Given the description of an element on the screen output the (x, y) to click on. 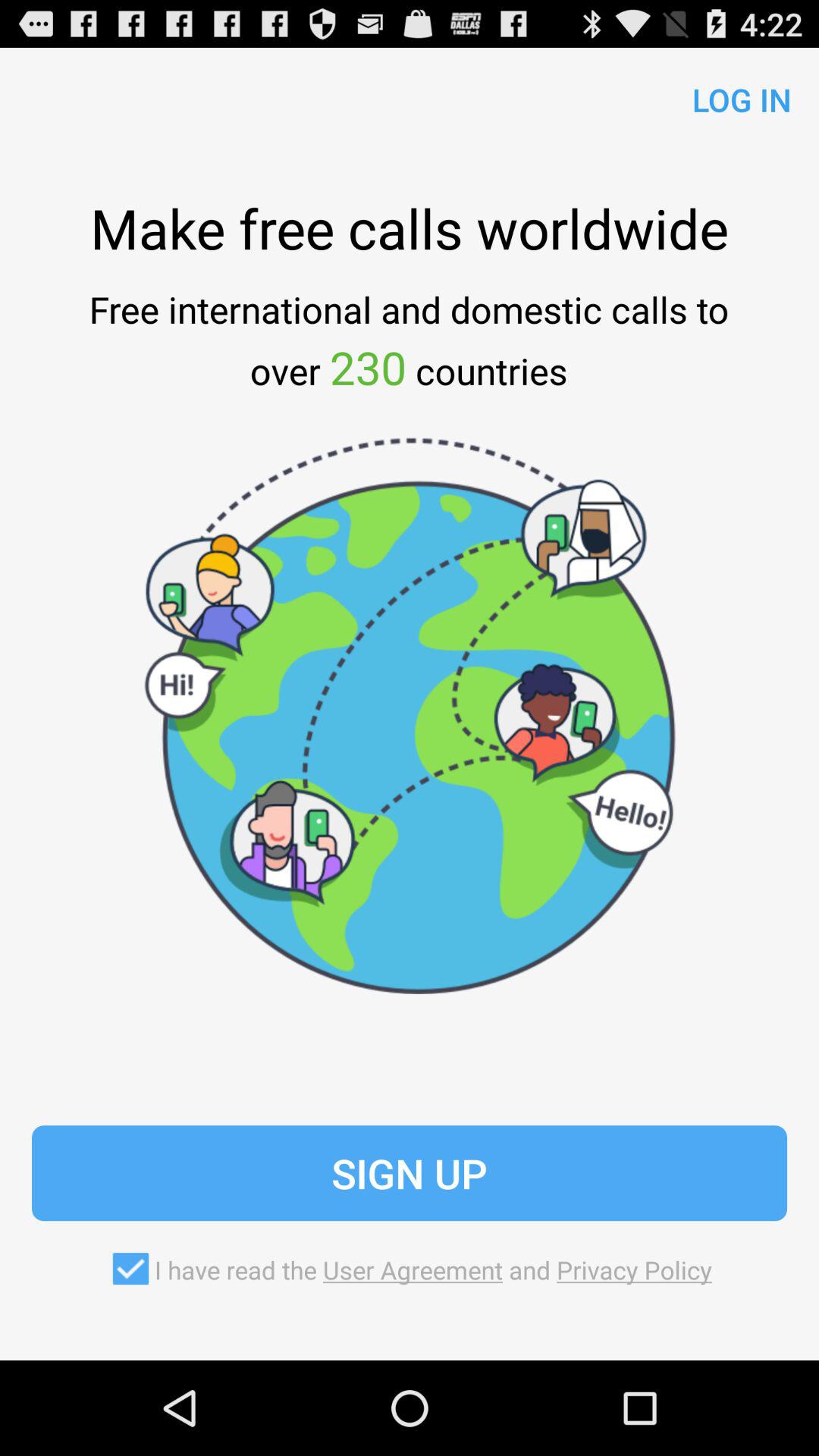
turn on the sign up item (409, 1173)
